Given the description of an element on the screen output the (x, y) to click on. 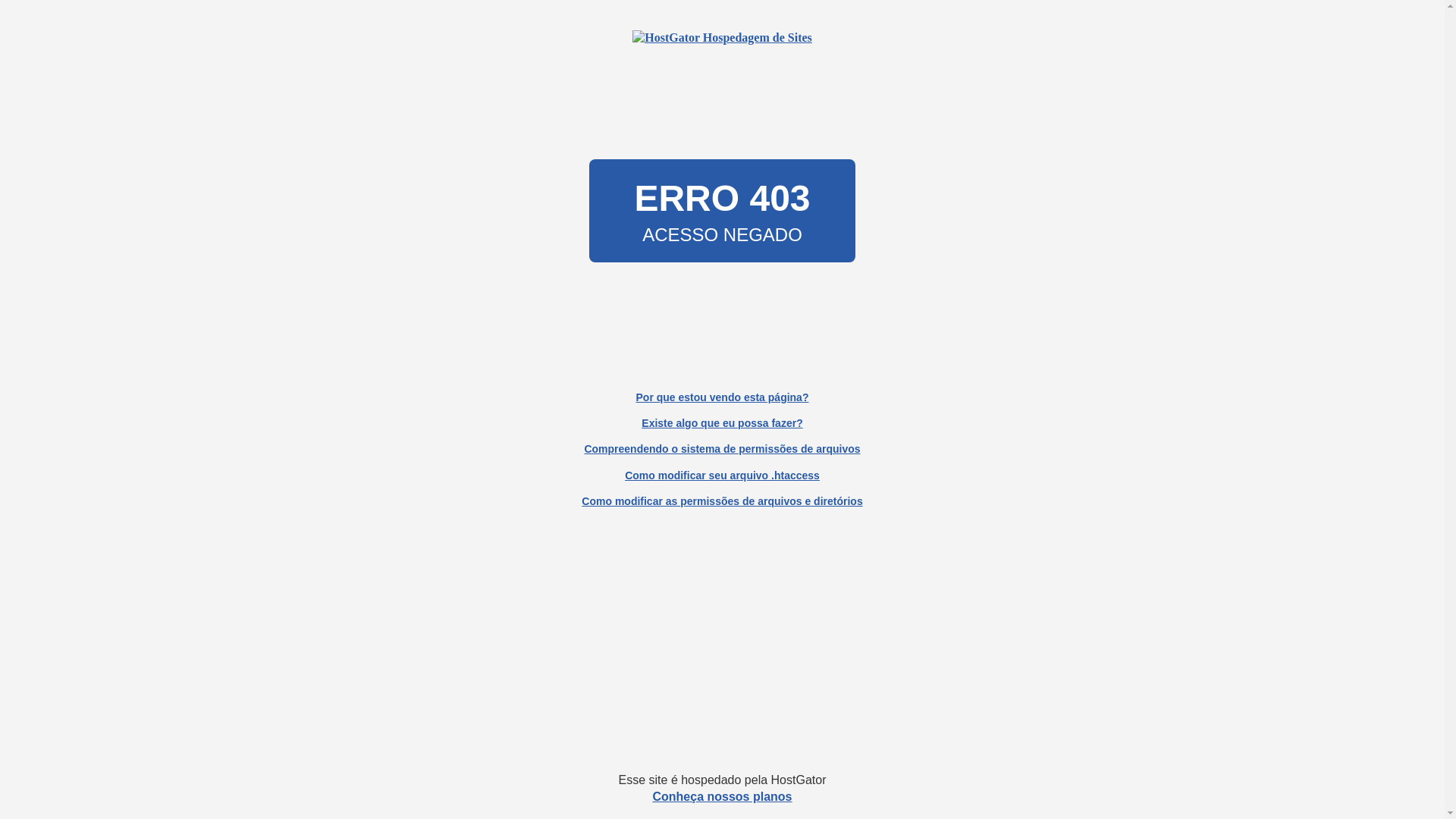
Existe algo que eu possa fazer? Element type: text (721, 423)
Como modificar seu arquivo .htaccess Element type: text (721, 475)
